Given the description of an element on the screen output the (x, y) to click on. 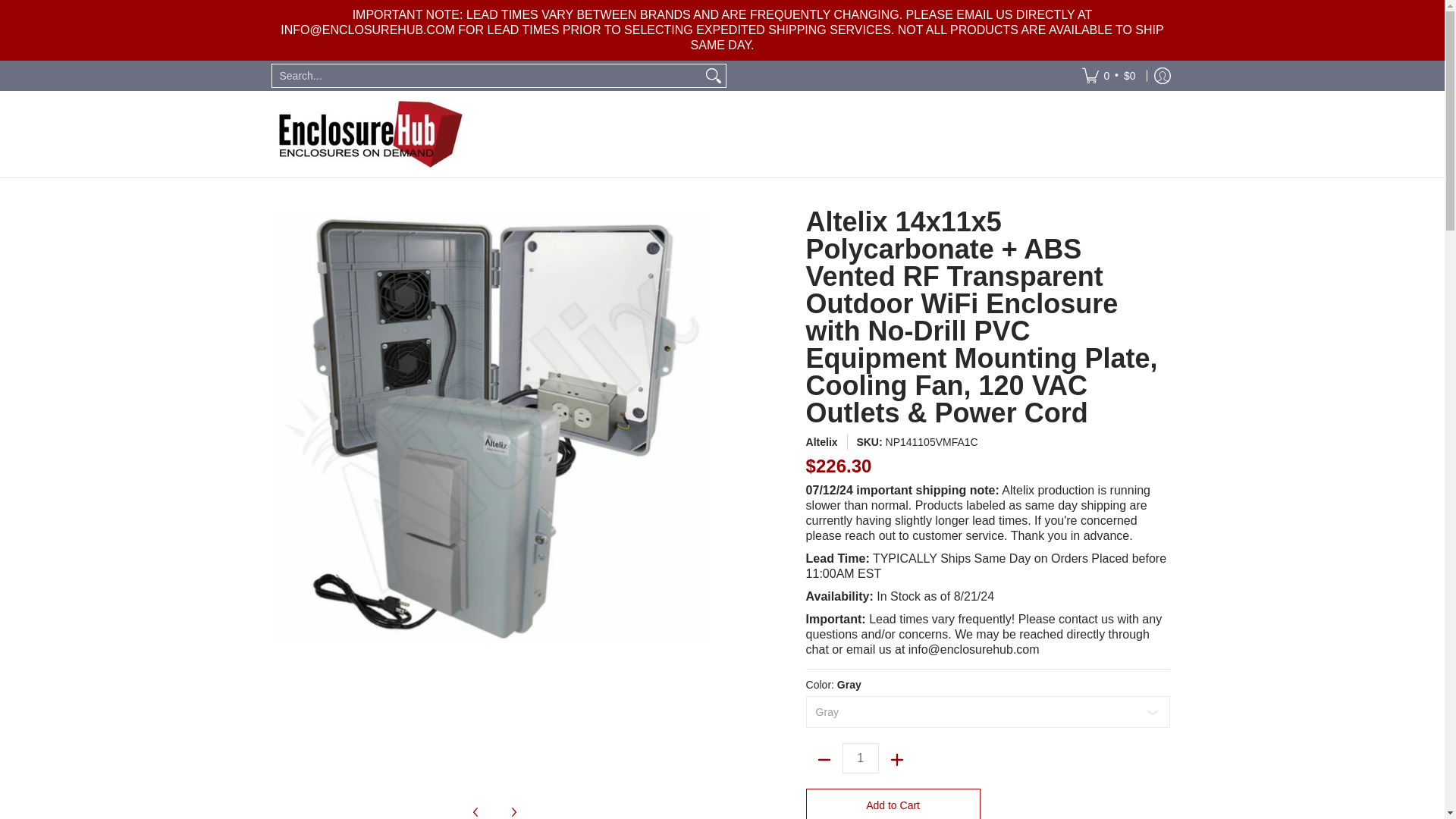
Altelix (822, 441)
1 (861, 757)
EnclosureHub (369, 133)
Cart (1108, 75)
Log in (1161, 75)
